Given the description of an element on the screen output the (x, y) to click on. 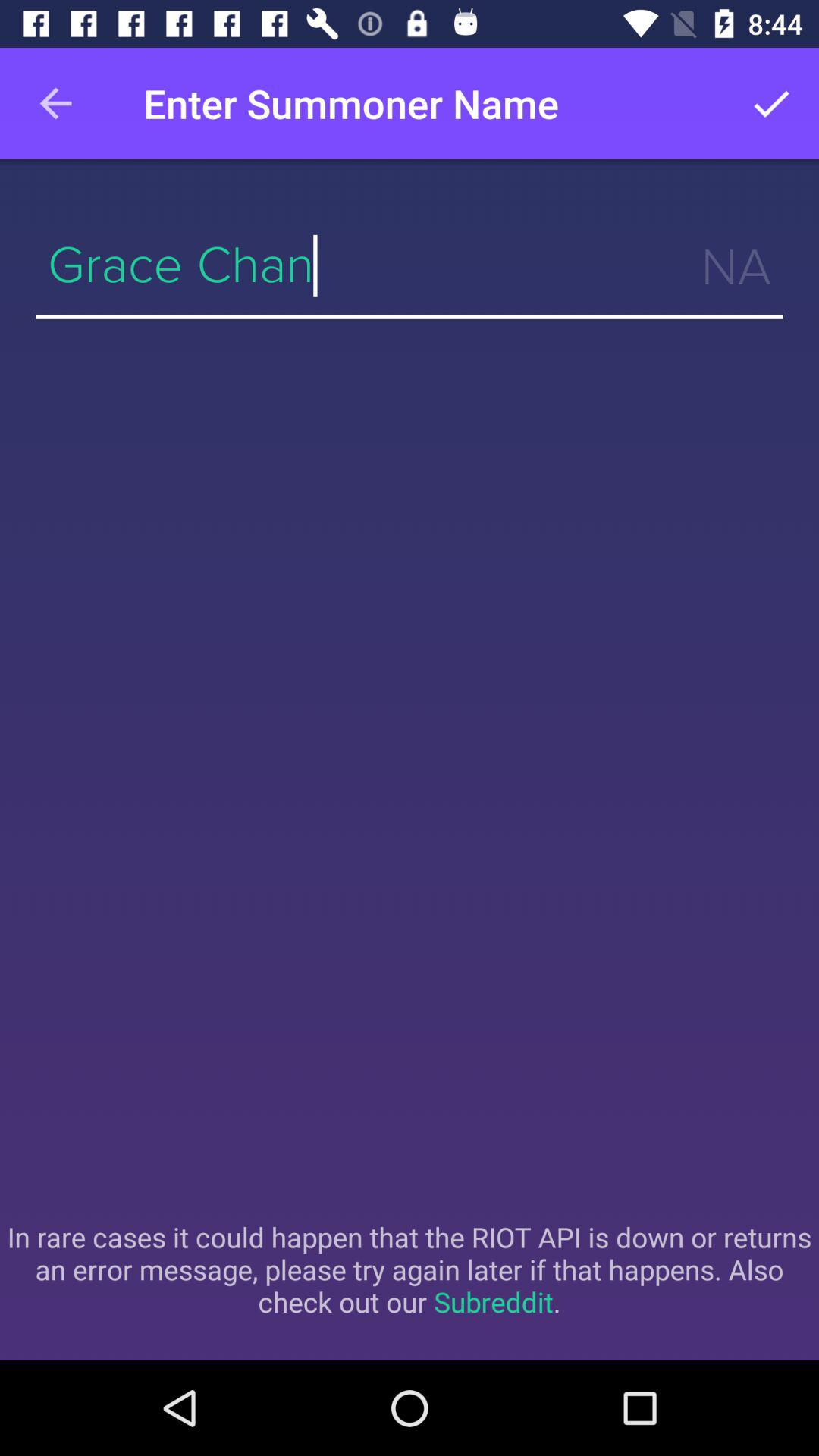
select grace chan item (409, 265)
